Given the description of an element on the screen output the (x, y) to click on. 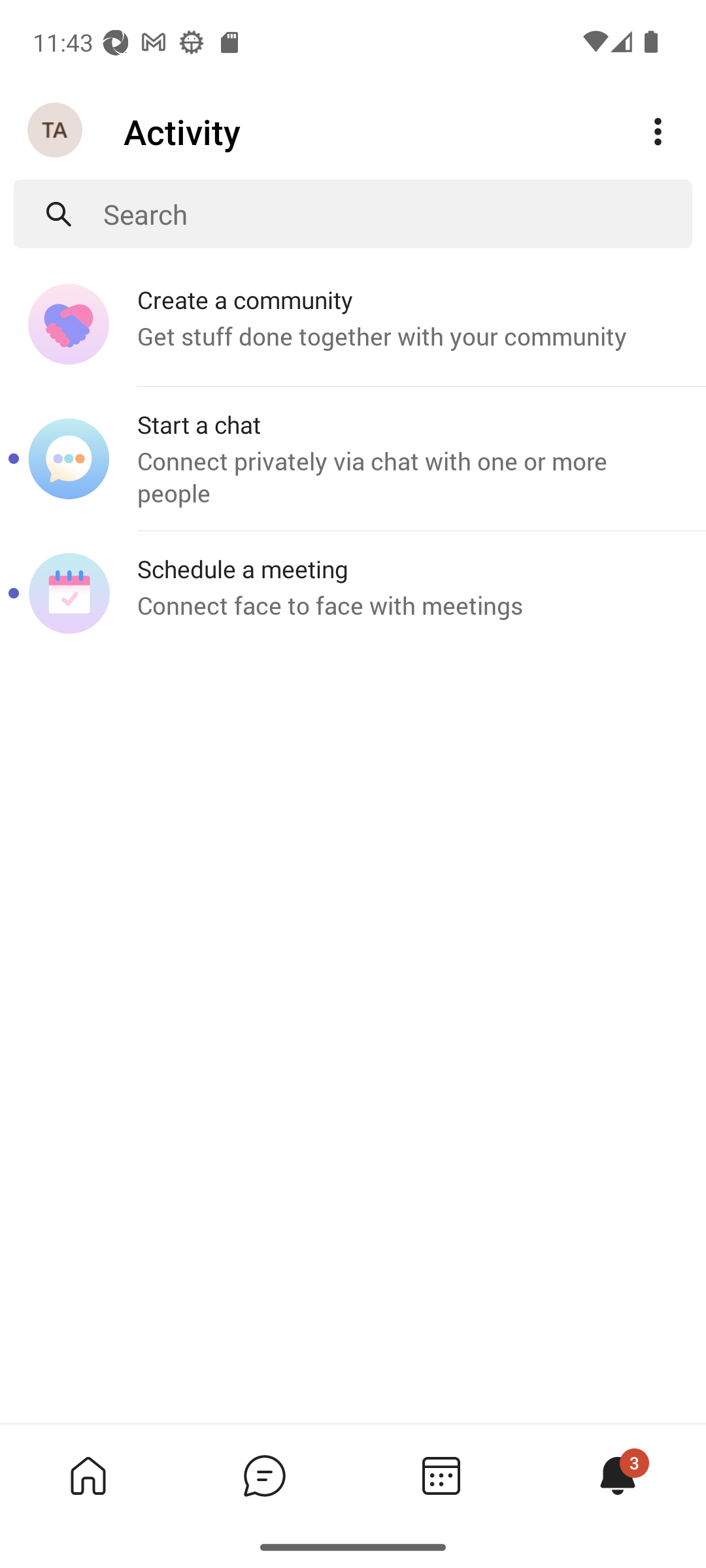
More options (657, 131)
Navigation (56, 130)
Search (397, 213)
Home tab,1 of 4, not selected (88, 1475)
Chat tab,2 of 4, not selected (264, 1475)
Calendar tab,3 of 4, not selected (441, 1475)
Activity tab, 4 of 4, 3 new 3 (617, 1475)
